Given the description of an element on the screen output the (x, y) to click on. 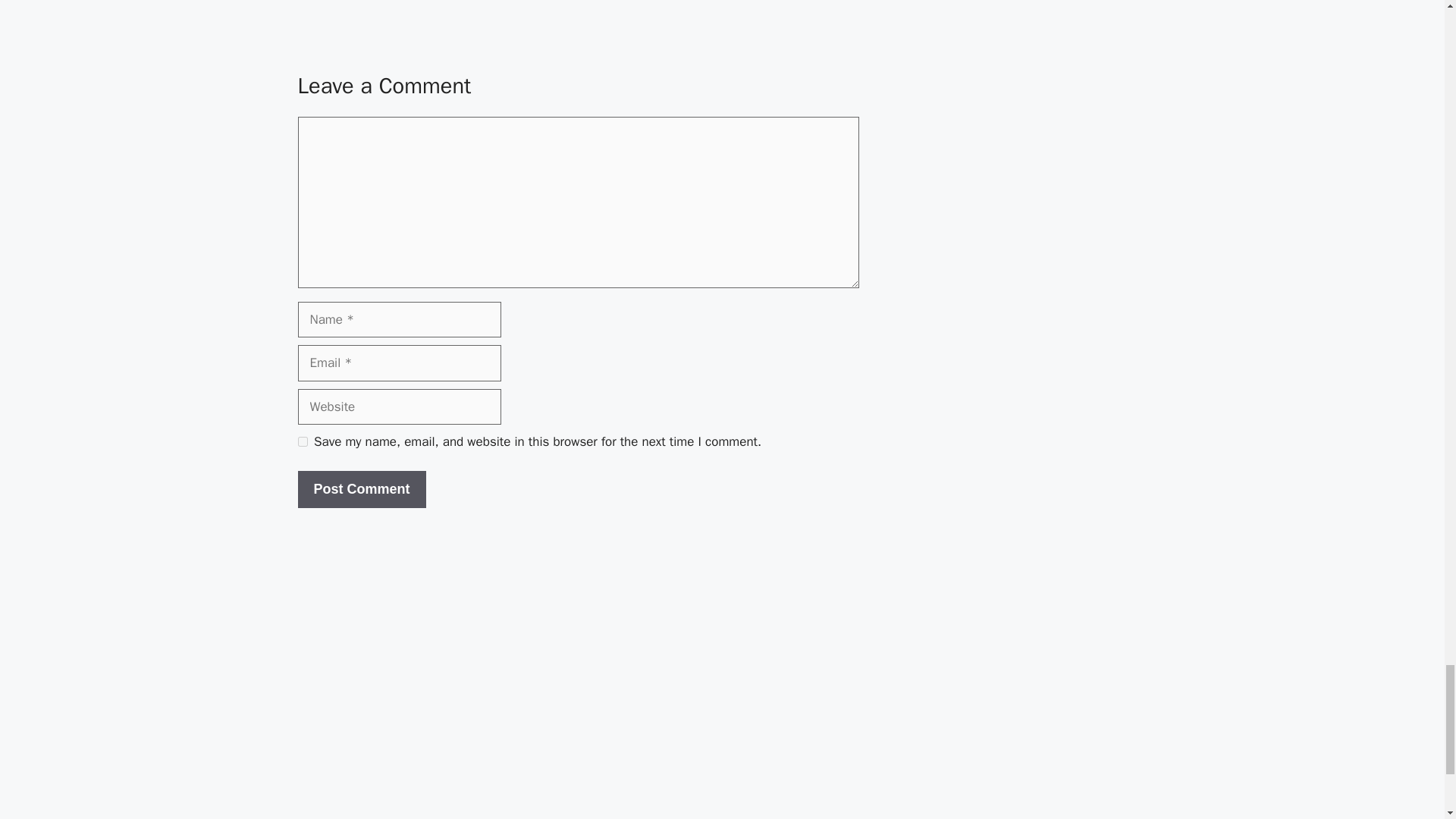
Post Comment (361, 488)
yes (302, 441)
Post Comment (361, 488)
